Given the description of an element on the screen output the (x, y) to click on. 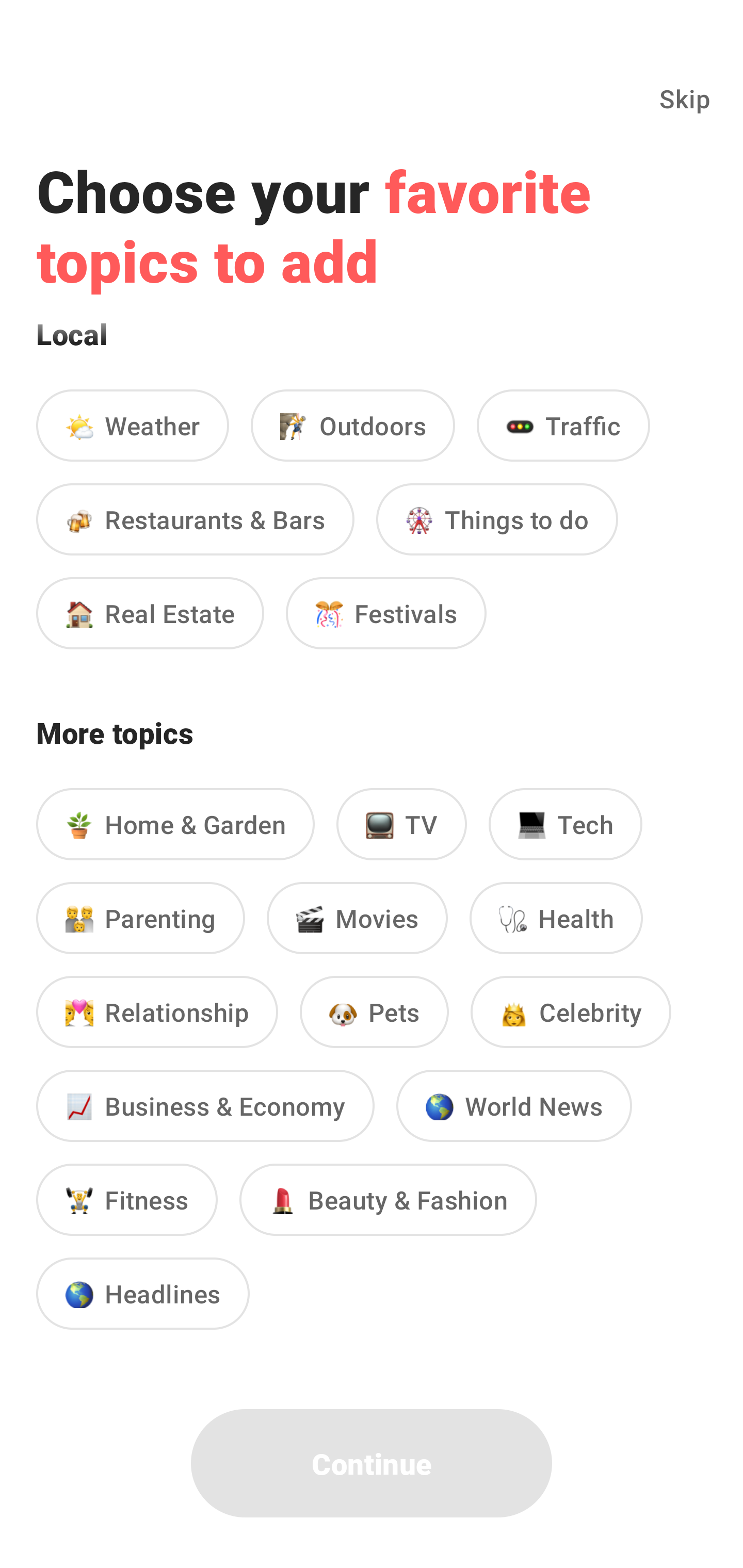
Skip (685, 97)
Weather (132, 424)
Outdoors (352, 424)
Traffic (563, 424)
Restaurants & Bars (195, 518)
Things to do (496, 518)
Real Estate (150, 613)
Festivals (386, 613)
Home & Garden (175, 824)
TV (401, 824)
Tech (565, 824)
Parenting (140, 917)
Movies (357, 917)
Health (555, 917)
Relationship (156, 1011)
Pets (373, 1011)
Celebrity (570, 1011)
Business & Economy (205, 1105)
World News (514, 1105)
Fitness (126, 1199)
Beauty & Fashion (388, 1199)
Headlines (142, 1293)
Continue (371, 1463)
